Given the description of an element on the screen output the (x, y) to click on. 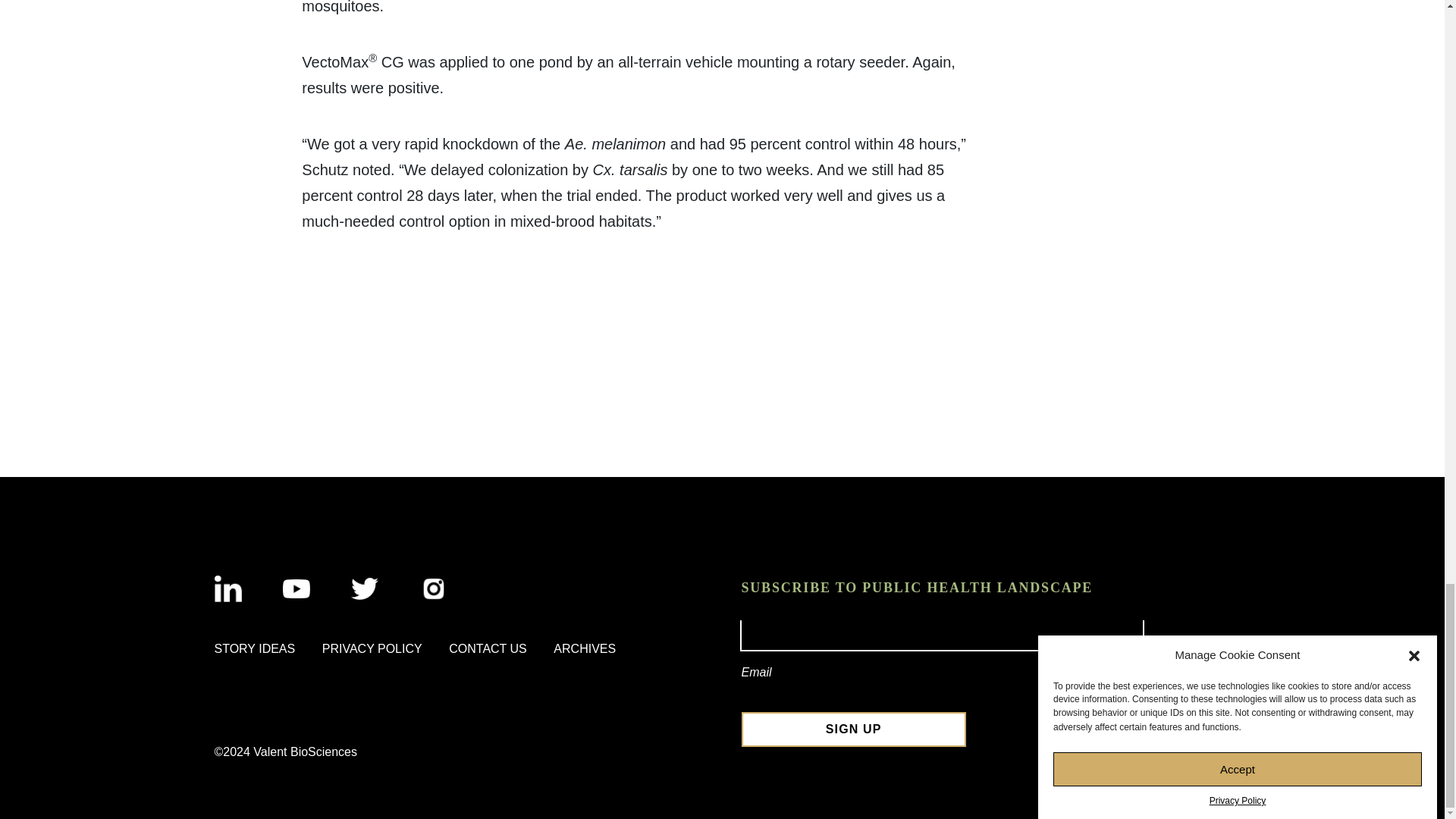
Instagram (433, 588)
Twitter (364, 589)
YouTube (296, 588)
LinkedIn (227, 588)
Sign up (853, 728)
